Given the description of an element on the screen output the (x, y) to click on. 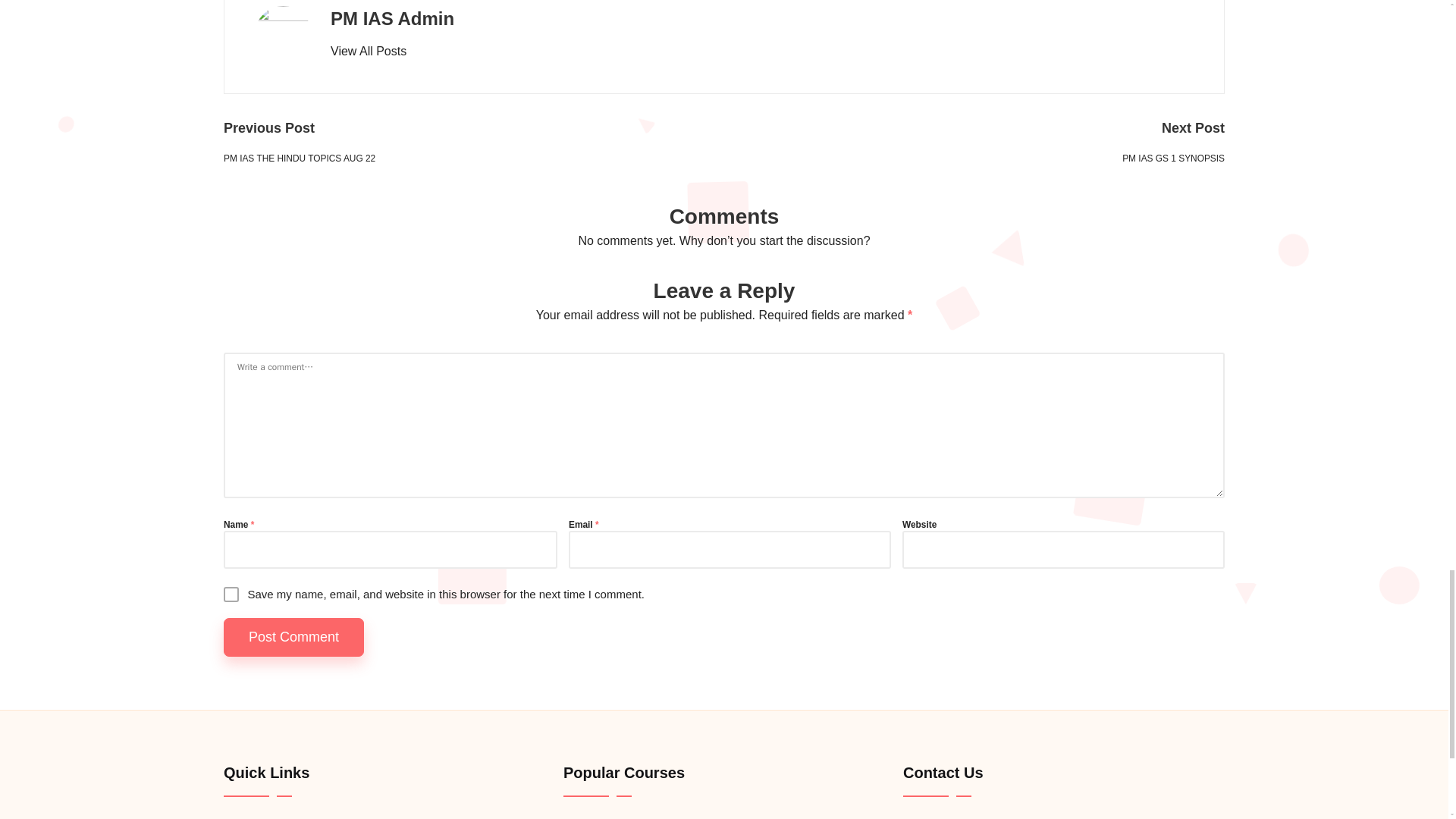
View All Posts (368, 51)
Post Comment (294, 637)
PM IAS Admin (392, 18)
Post Comment (294, 637)
PM IAS THE HINDU TOPICS AUG 22 (473, 159)
PM IAS GS 1 SYNOPSIS (973, 159)
yes (231, 594)
